Given the description of an element on the screen output the (x, y) to click on. 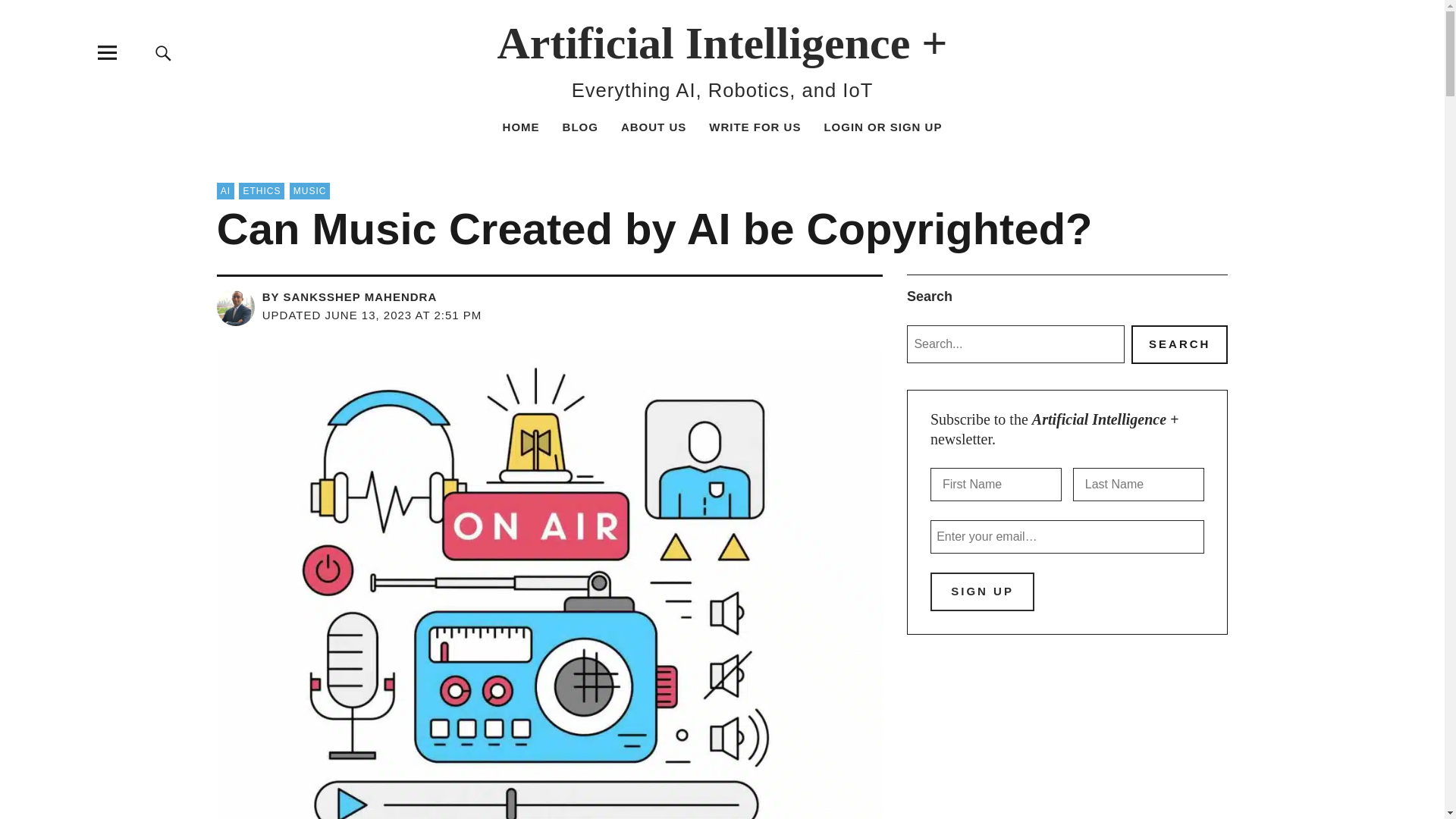
HOME (521, 126)
LOGIN OR SIGN UP (883, 126)
ABOUT US (653, 126)
Search (965, 165)
BY SANKSSHEP MAHENDRA (349, 296)
MUSIC (309, 190)
Search (1179, 344)
BLOG (580, 126)
UPDATED JUNE 13, 2023 AT 2:51 PM (371, 314)
WRITE FOR US (754, 126)
